Given the description of an element on the screen output the (x, y) to click on. 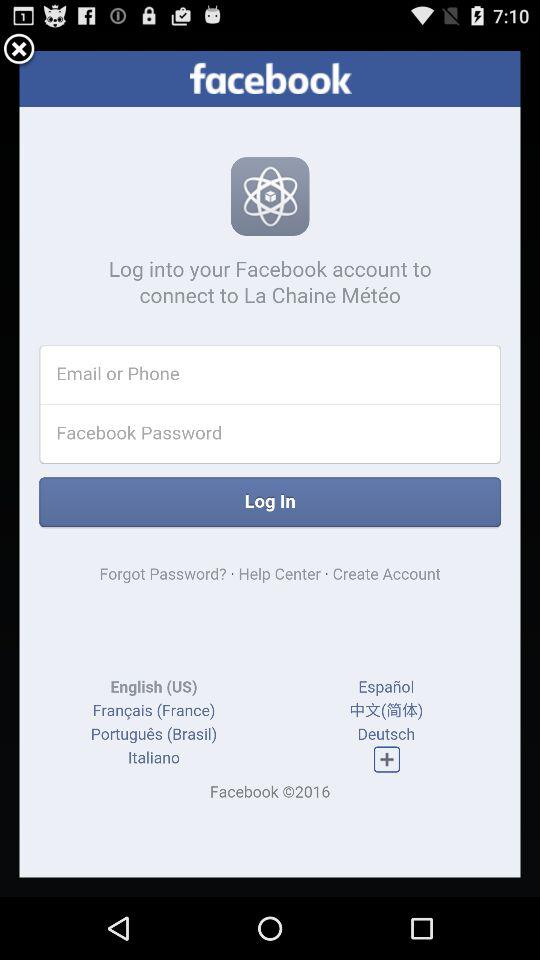
cloess button (19, 50)
